Given the description of an element on the screen output the (x, y) to click on. 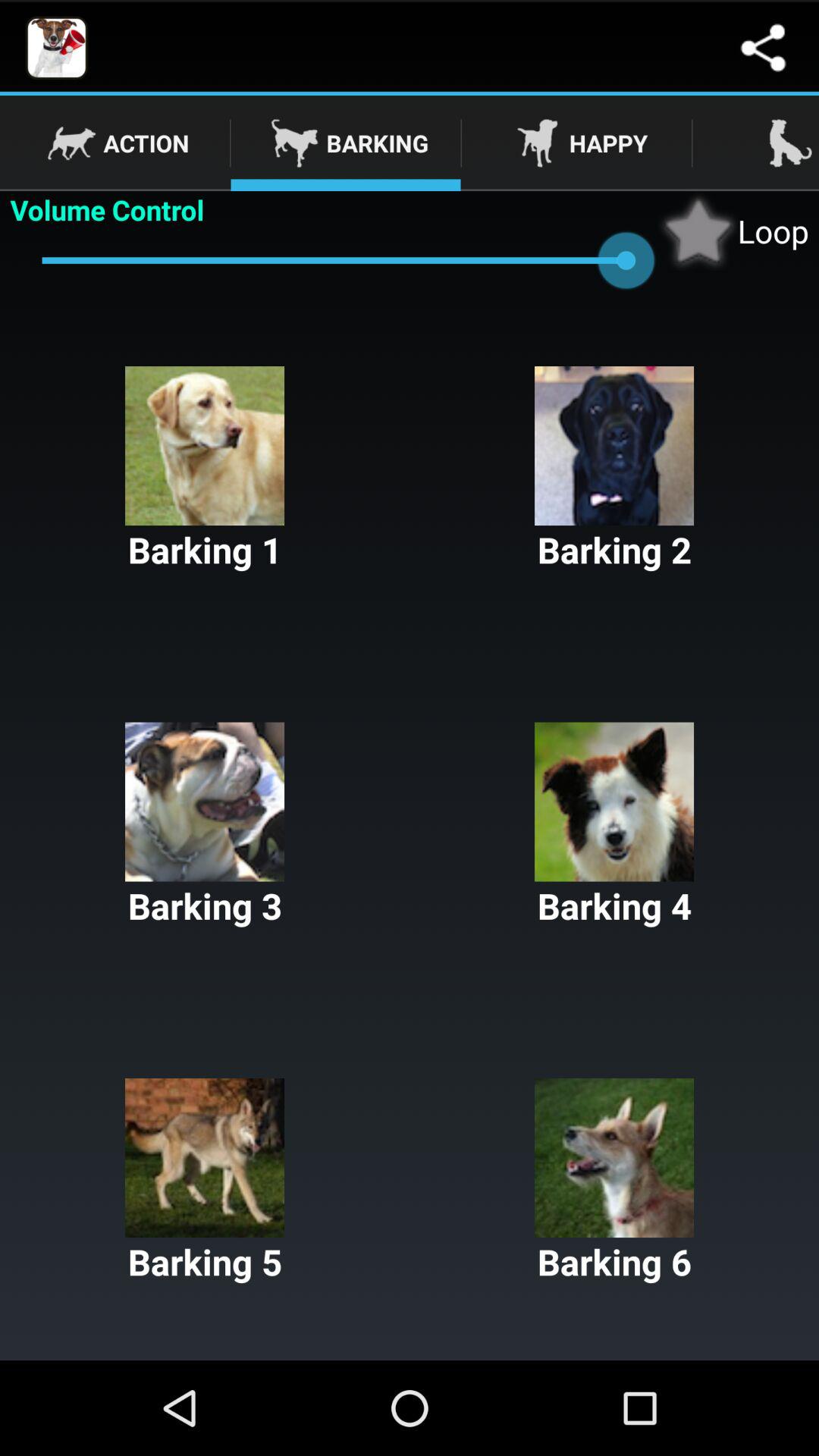
tap the barking 3 icon (204, 825)
